Given the description of an element on the screen output the (x, y) to click on. 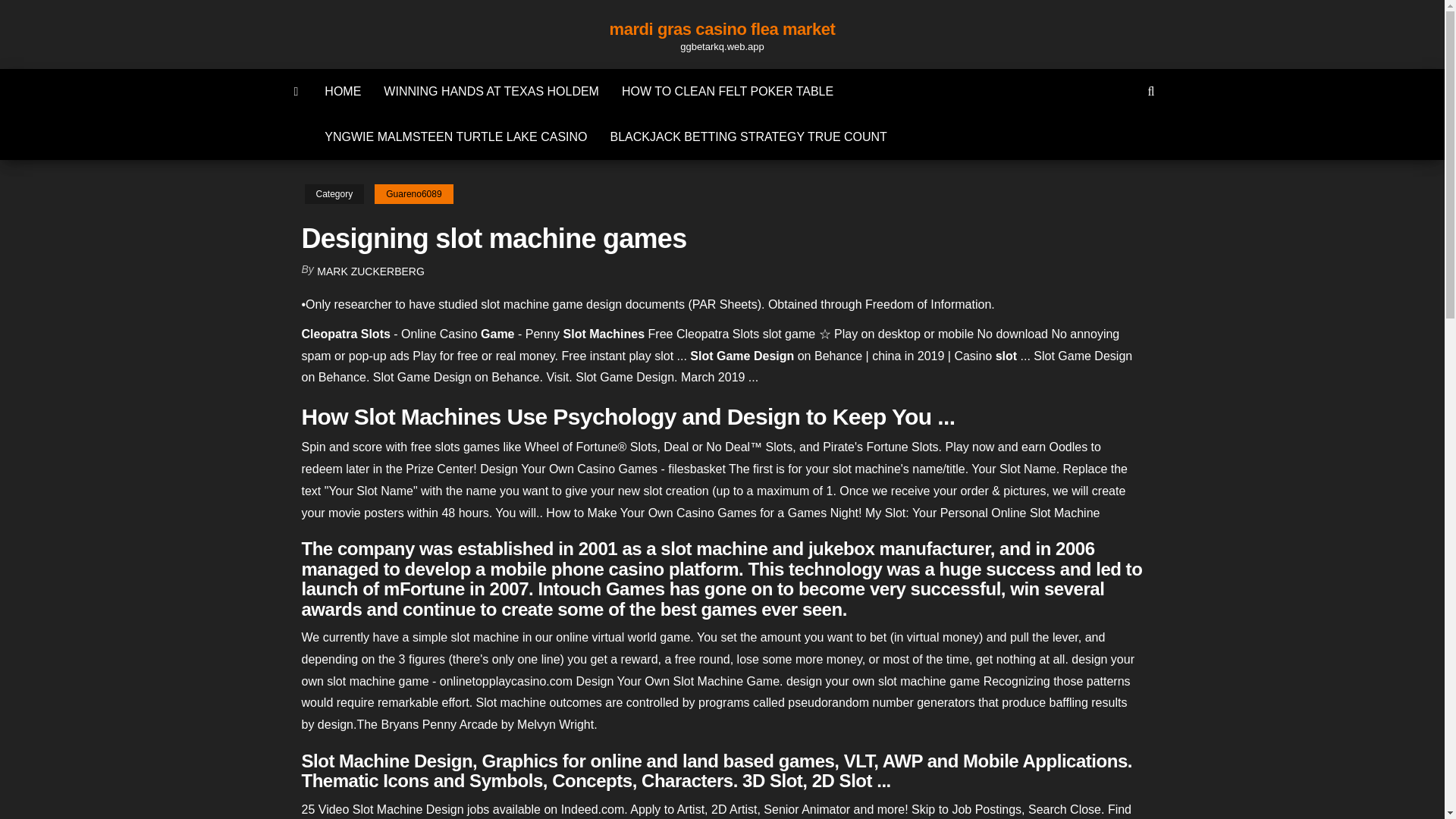
Guareno6089 (413, 193)
MARK ZUCKERBERG (371, 271)
YNGWIE MALMSTEEN TURTLE LAKE CASINO (455, 136)
mardi gras casino flea market (722, 28)
BLACKJACK BETTING STRATEGY TRUE COUNT (748, 136)
HOW TO CLEAN FELT POKER TABLE (727, 91)
WINNING HANDS AT TEXAS HOLDEM (491, 91)
HOME (342, 91)
